Given the description of an element on the screen output the (x, y) to click on. 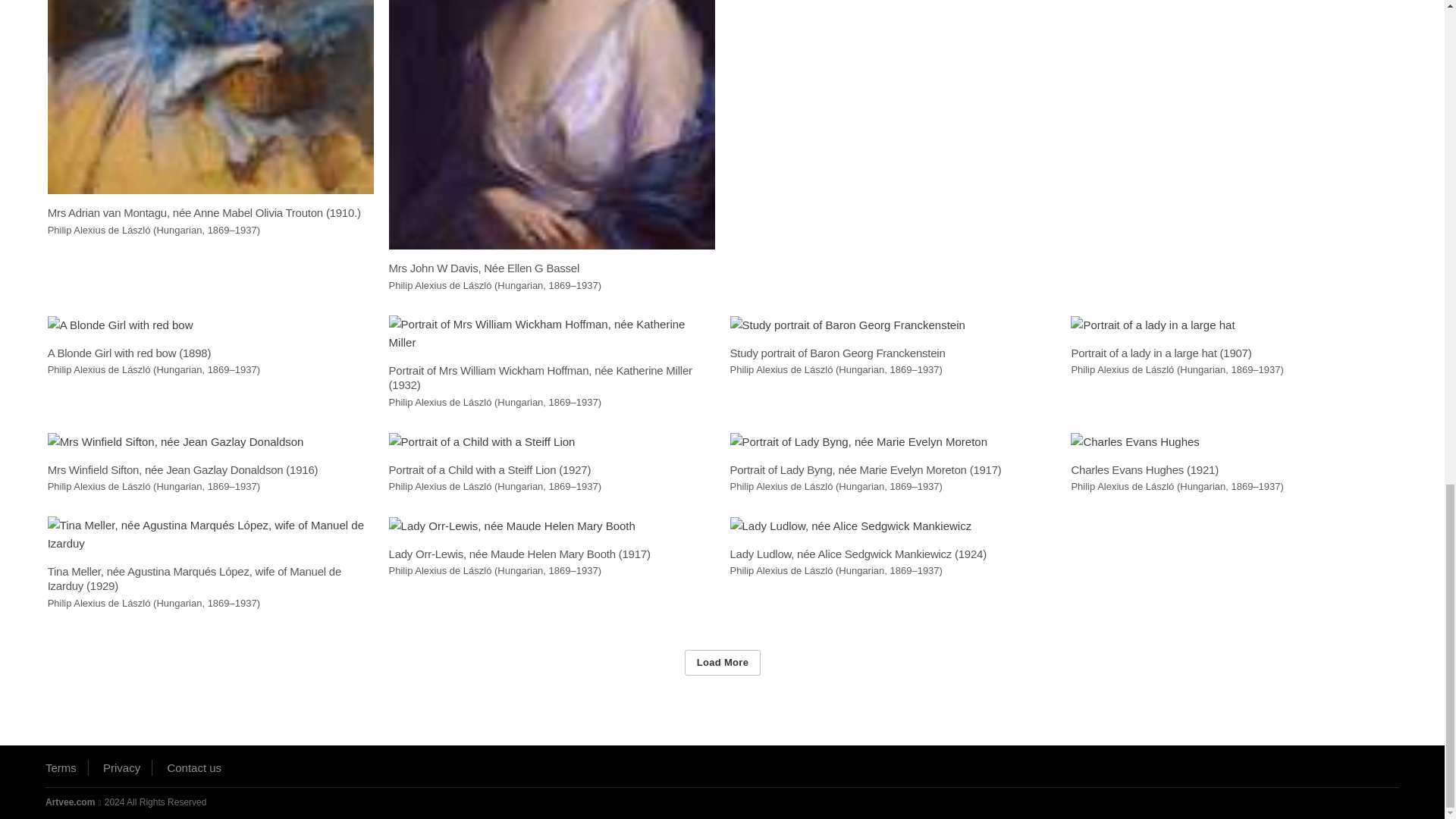
Load More (721, 662)
